Given the description of an element on the screen output the (x, y) to click on. 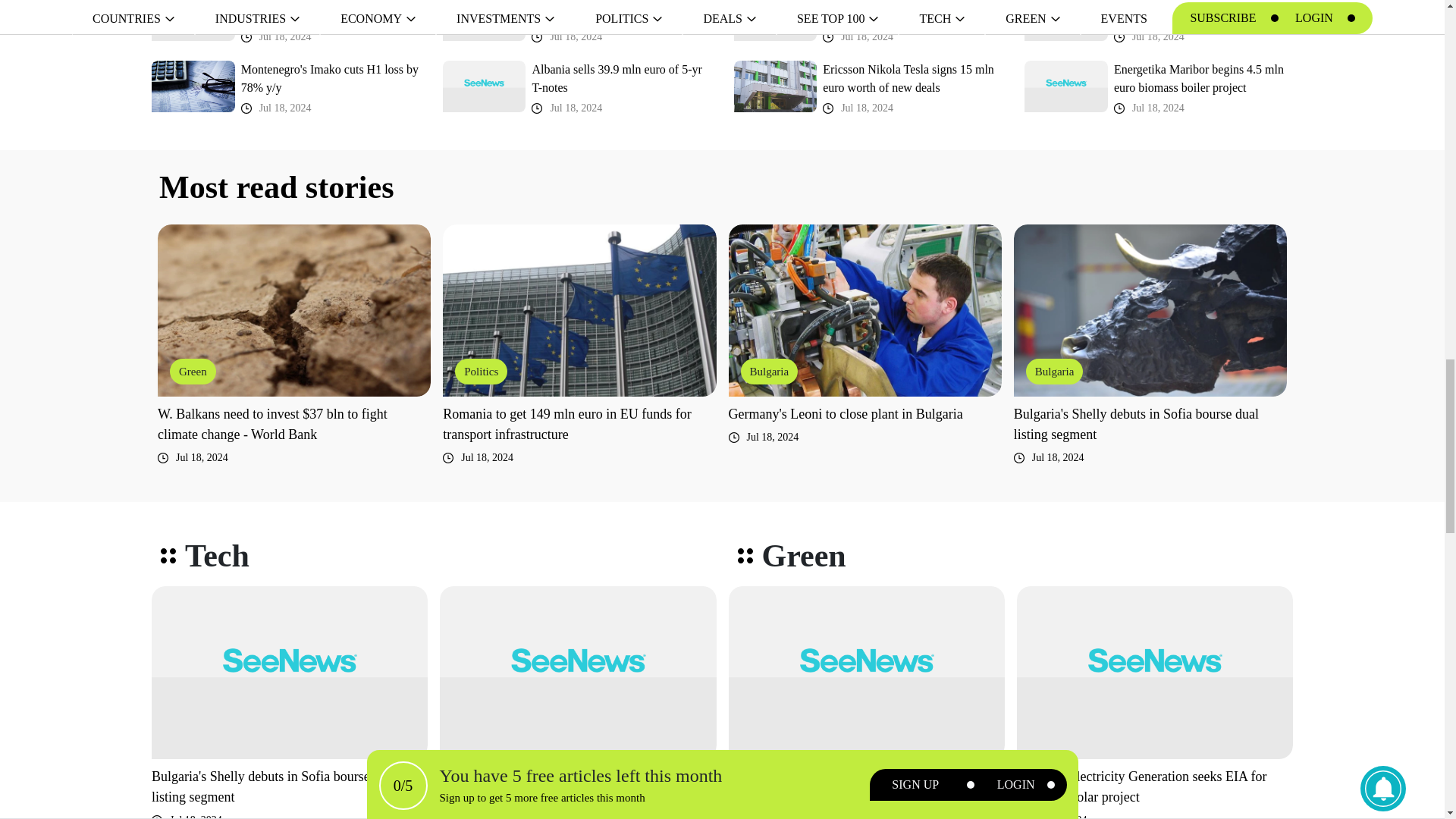
1260794 (483, 20)
1260792 (483, 86)
1260781 (774, 20)
1260765 (192, 20)
1260756 (192, 86)
